Given the description of an element on the screen output the (x, y) to click on. 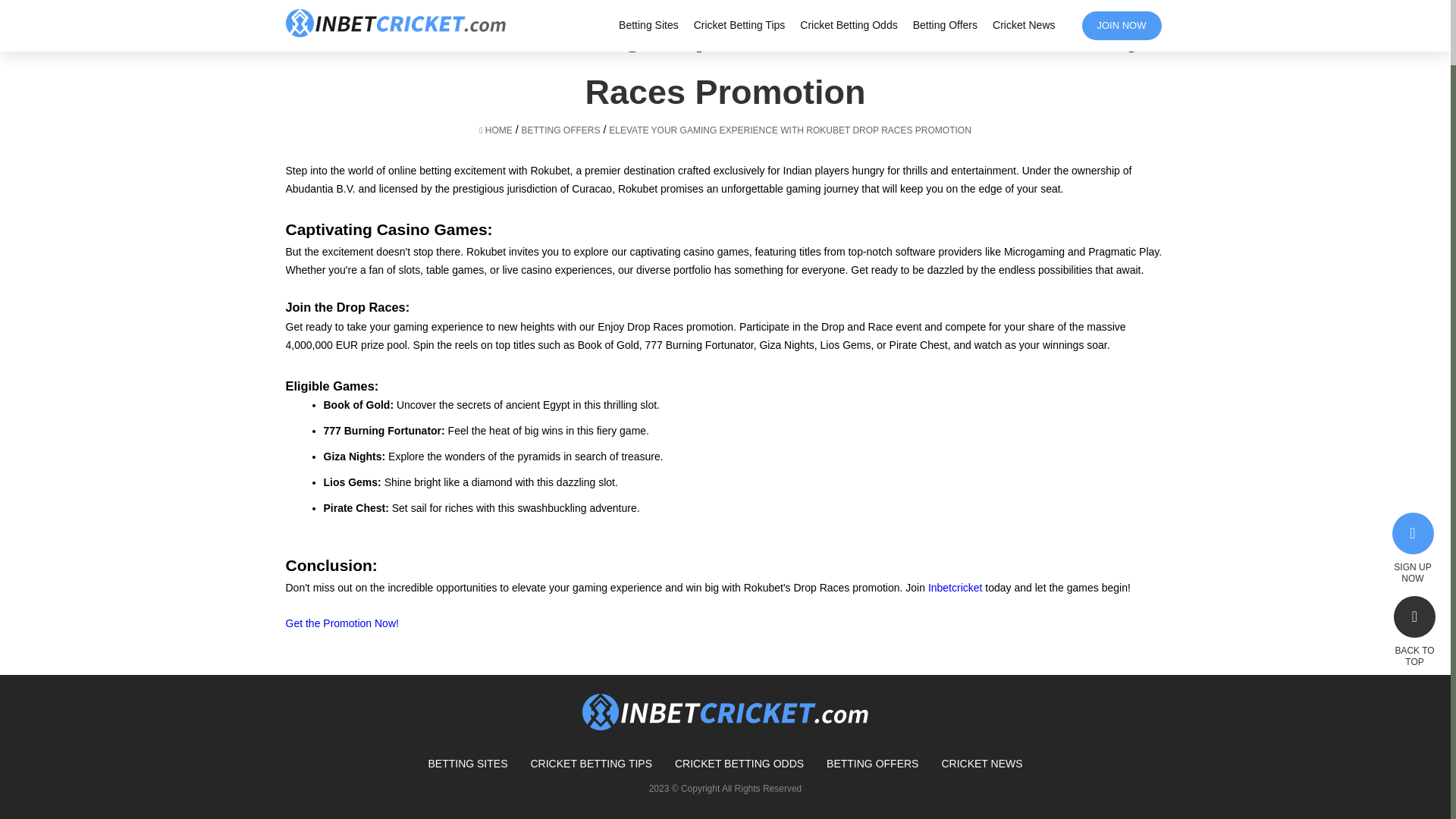
CRICKET BETTING TIPS (590, 763)
BETTING OFFERS (872, 763)
Cricket Betting Odds (739, 763)
BETTING SITES (467, 763)
HOME (495, 129)
Cricket News (981, 763)
Betting Offers (872, 763)
Betting Offers (560, 129)
CRICKET NEWS (981, 763)
Get the Promotion Now! (341, 623)
Betting Sites (467, 763)
HOME (495, 129)
Inbetcricket (956, 587)
CRICKET BETTING ODDS (739, 763)
